Given the description of an element on the screen output the (x, y) to click on. 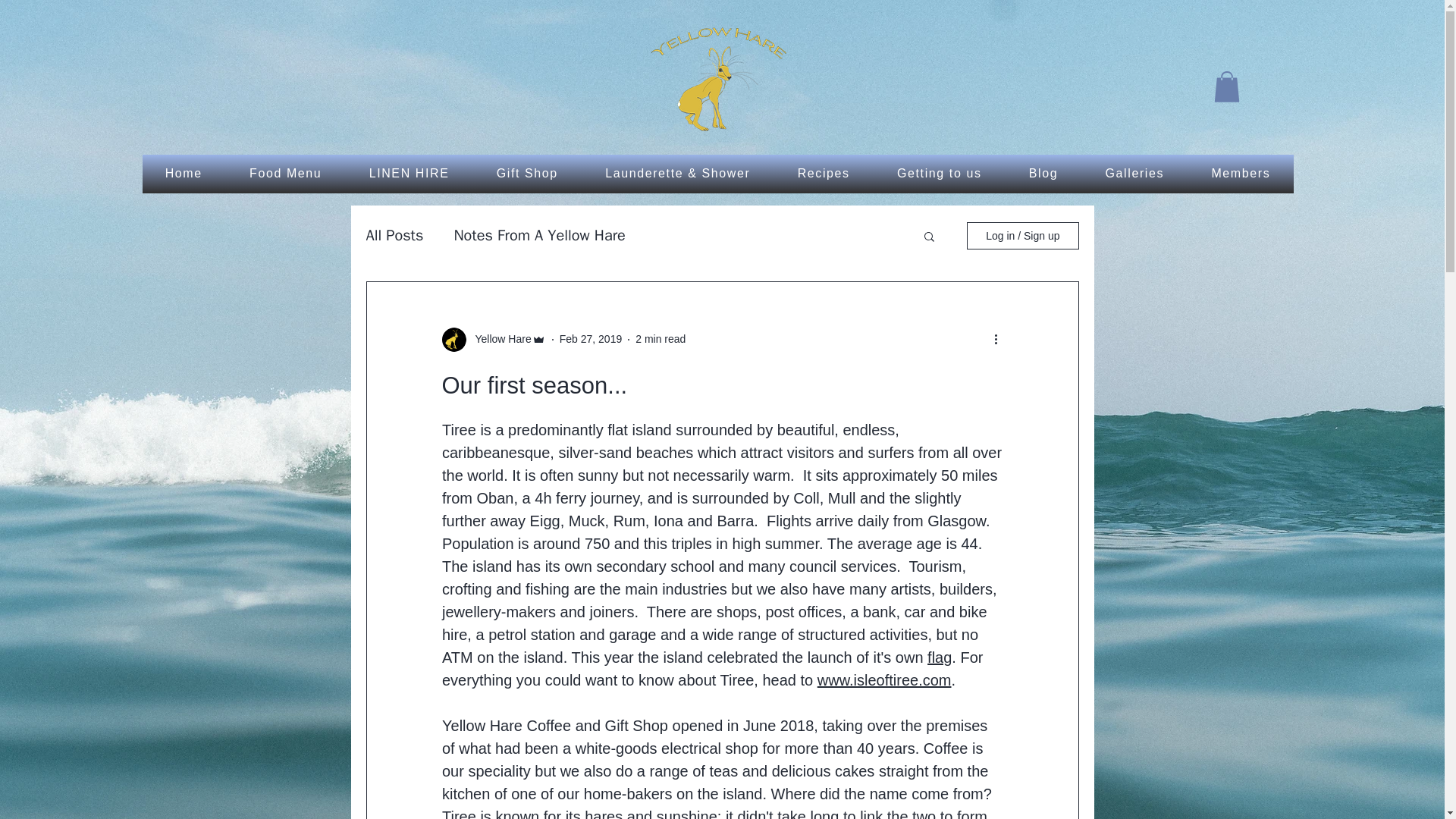
Blog (1043, 173)
2 min read (659, 338)
Notes From A Yellow Hare (538, 235)
Members (1240, 173)
Recipes (823, 173)
All Posts (394, 235)
Yellow Hare (498, 339)
Food Menu (286, 173)
Gift Shop (527, 173)
Feb 27, 2019 (591, 338)
LINEN HIRE (408, 173)
Home (183, 173)
